Given the description of an element on the screen output the (x, y) to click on. 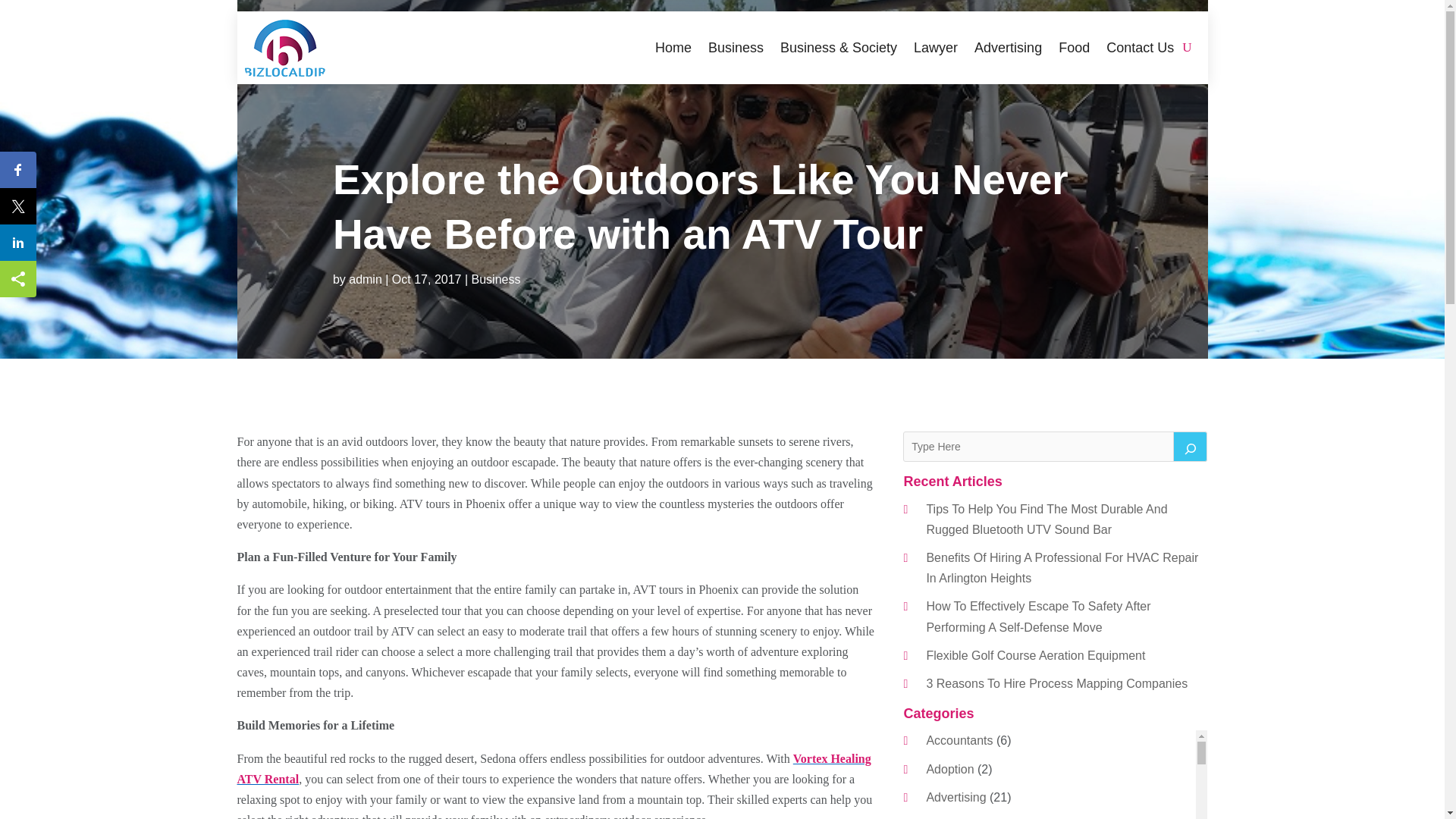
Business (734, 47)
Adoption (950, 768)
Home (673, 47)
Food (1073, 47)
Accountants (959, 739)
admin (365, 278)
Lawyer (936, 47)
Posts by admin (365, 278)
Flexible Golf Course Aeration Equipment (1035, 655)
Contact Us (1139, 47)
Advertising (1008, 47)
3 Reasons To Hire Process Mapping Companies (1057, 683)
Vortex Healing ATV Rental (552, 768)
